Given the description of an element on the screen output the (x, y) to click on. 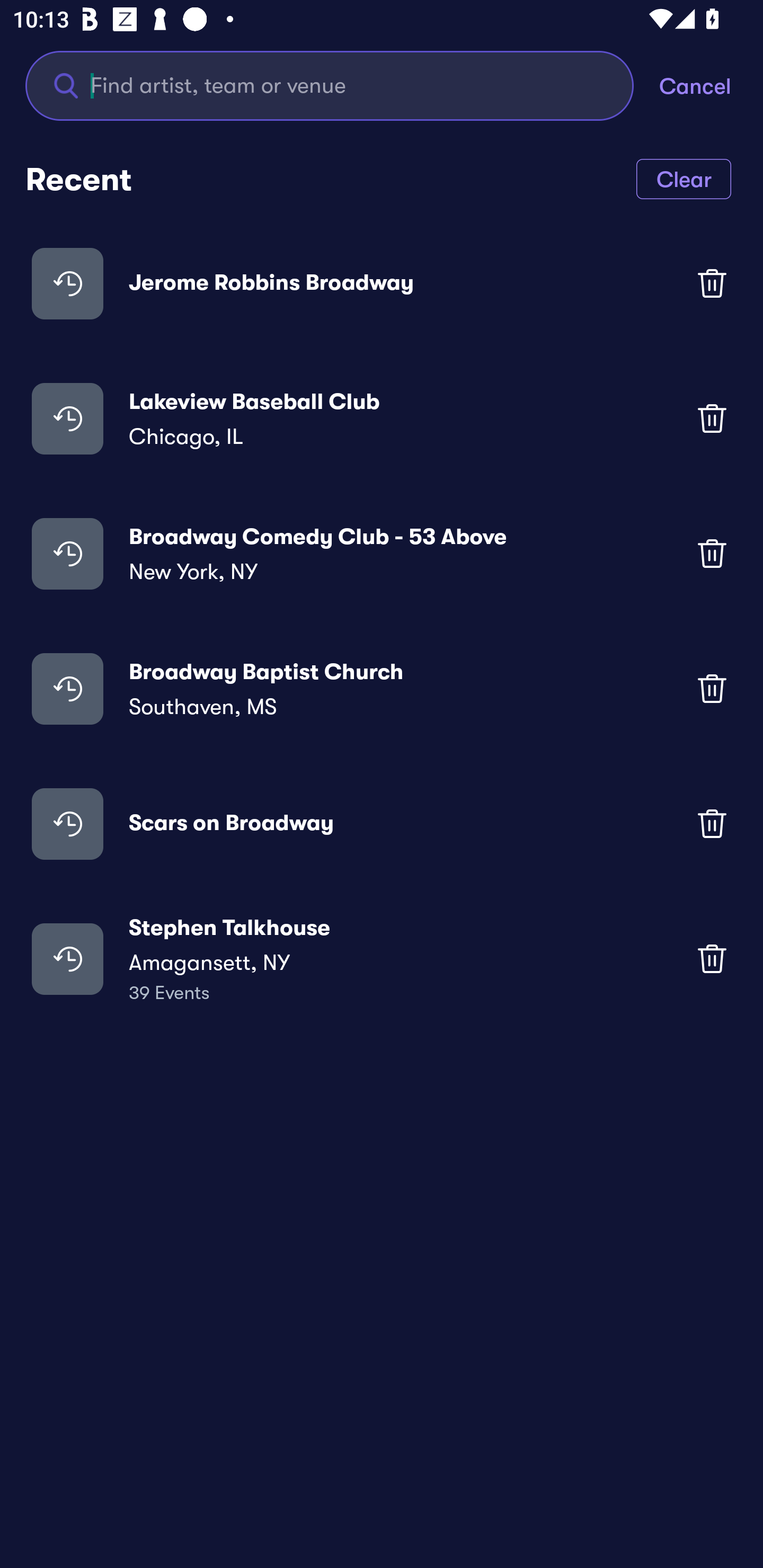
Cancel (711, 85)
Find artist, team or venue Find (329, 85)
Find artist, team or venue Find (341, 85)
Clear (683, 178)
Jerome Robbins Broadway (381, 282)
Lakeview Baseball Club Chicago, IL (381, 417)
Broadway Comedy Club - 53 Above New York, NY (381, 553)
Broadway Baptist Church Southaven, MS (381, 688)
Scars on Broadway (381, 823)
Stephen Talkhouse Amagansett, NY 39 Events (381, 958)
